Given the description of an element on the screen output the (x, y) to click on. 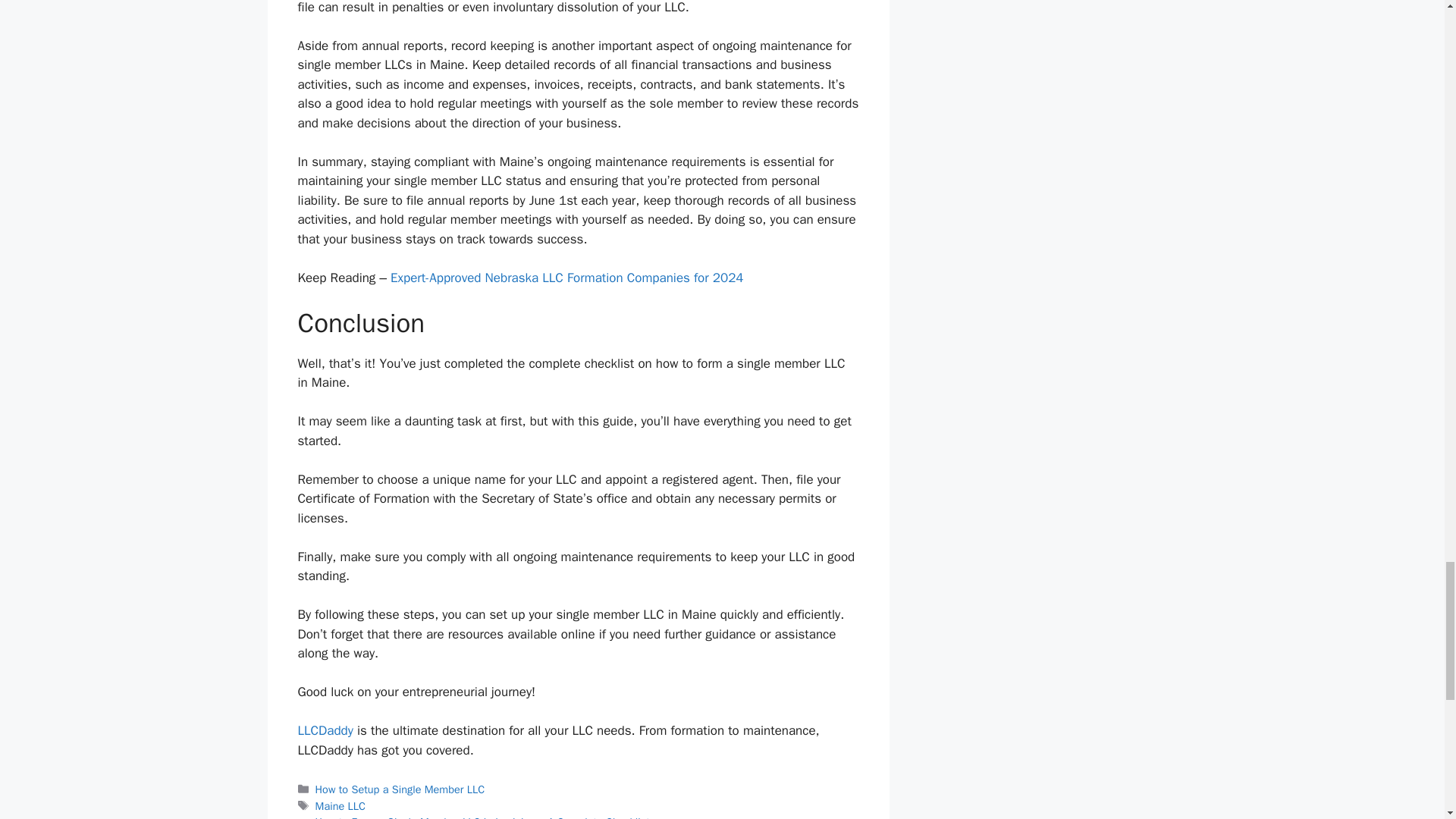
Maine LLC (340, 806)
Expert-Approved Nebraska LLC Formation Companies for 2024 (567, 277)
LLCDaddy (324, 730)
How to Setup a Single Member LLC (399, 789)
LLCDaddy (324, 730)
